Given the description of an element on the screen output the (x, y) to click on. 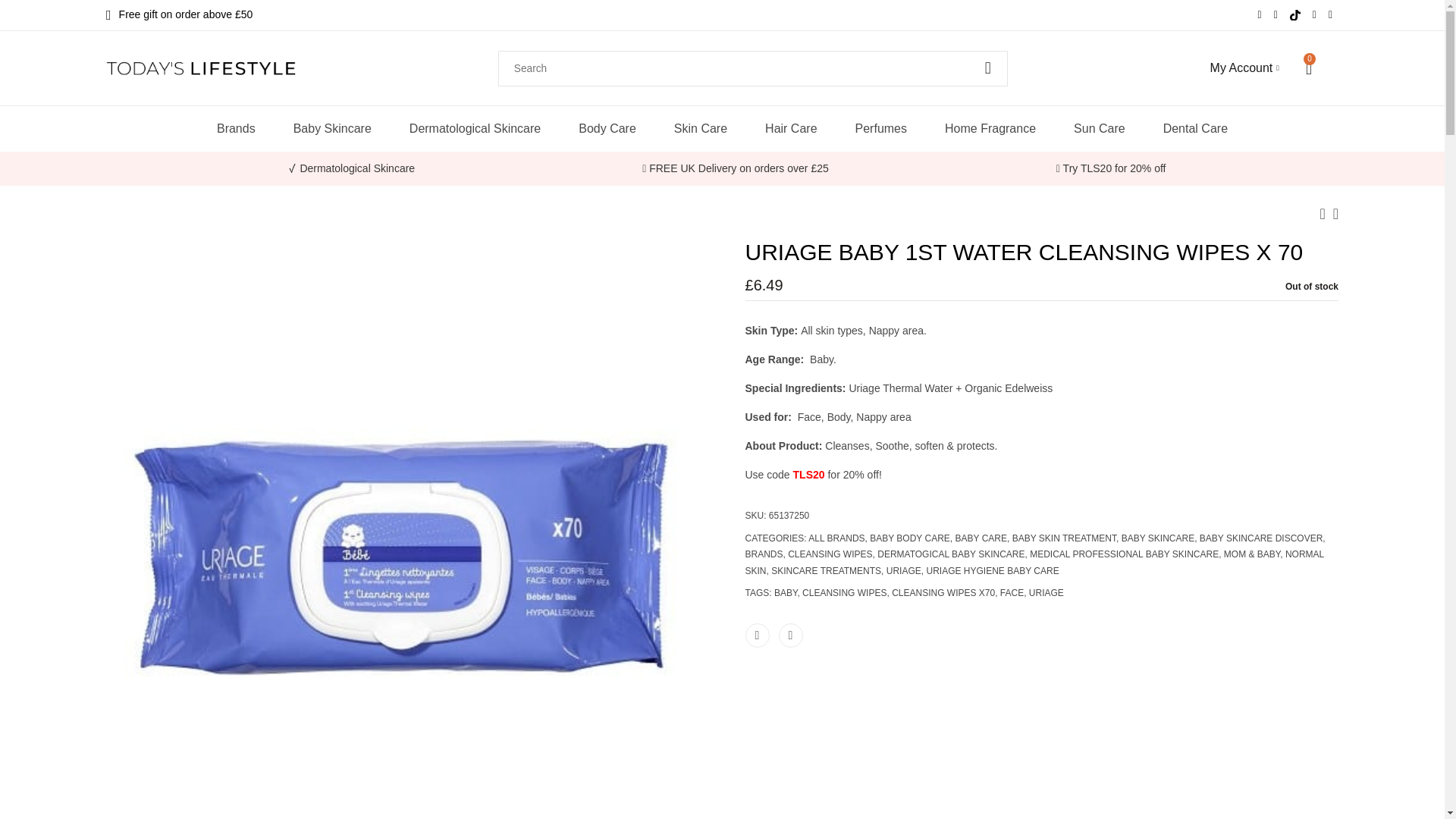
Share this post on Pinterest (789, 635)
Share this post on Facebook (756, 635)
